Given the description of an element on the screen output the (x, y) to click on. 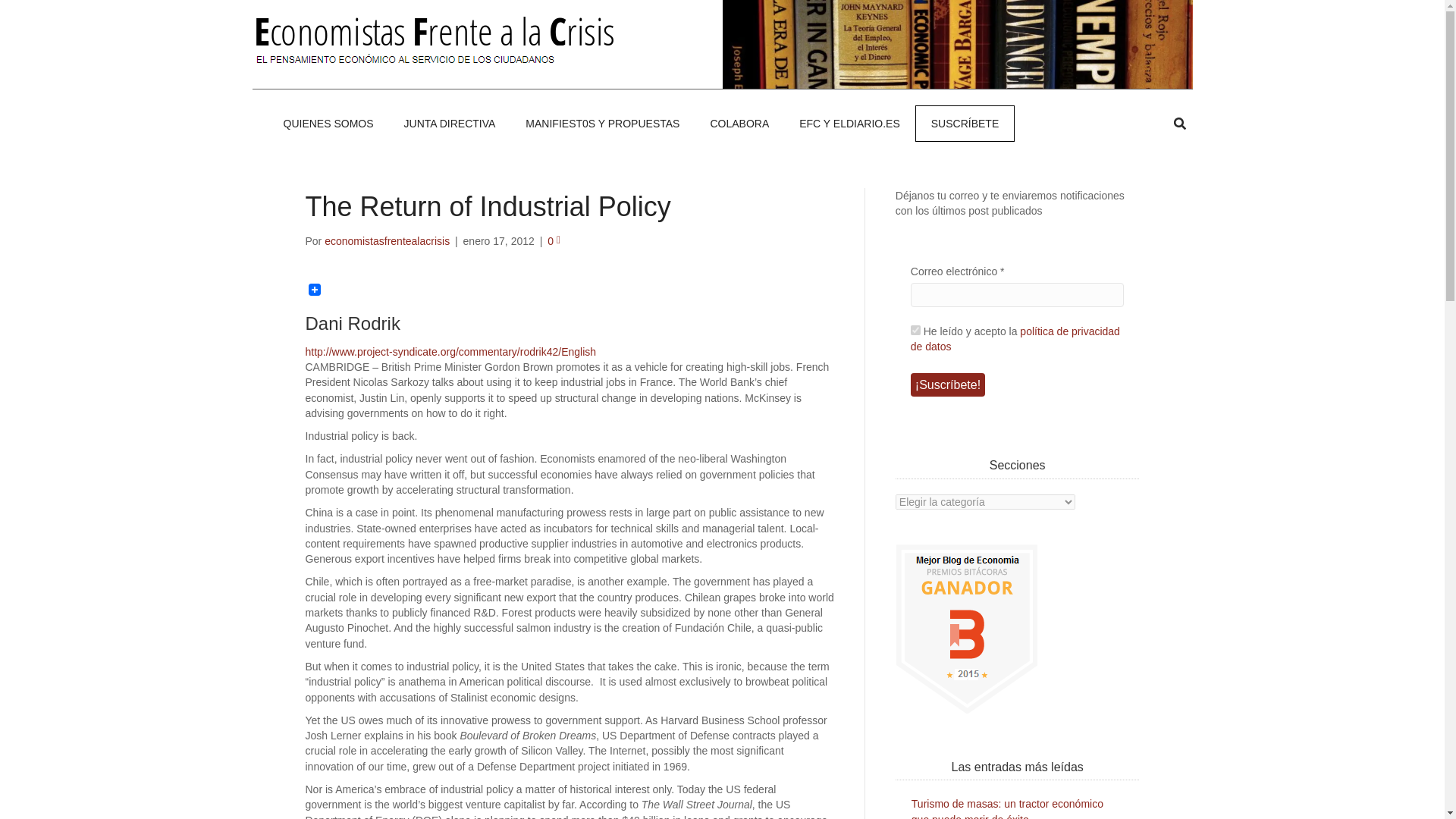
0 (553, 241)
QUIENES SOMOS (327, 123)
1 (915, 329)
JUNTA DIRECTIVA (449, 123)
economistasfrentealacrisis (386, 241)
MANIFIEST0S Y PROPUESTAS (602, 123)
EFC Y ELDIARIO.ES (849, 123)
COLABORA (739, 123)
